Given the description of an element on the screen output the (x, y) to click on. 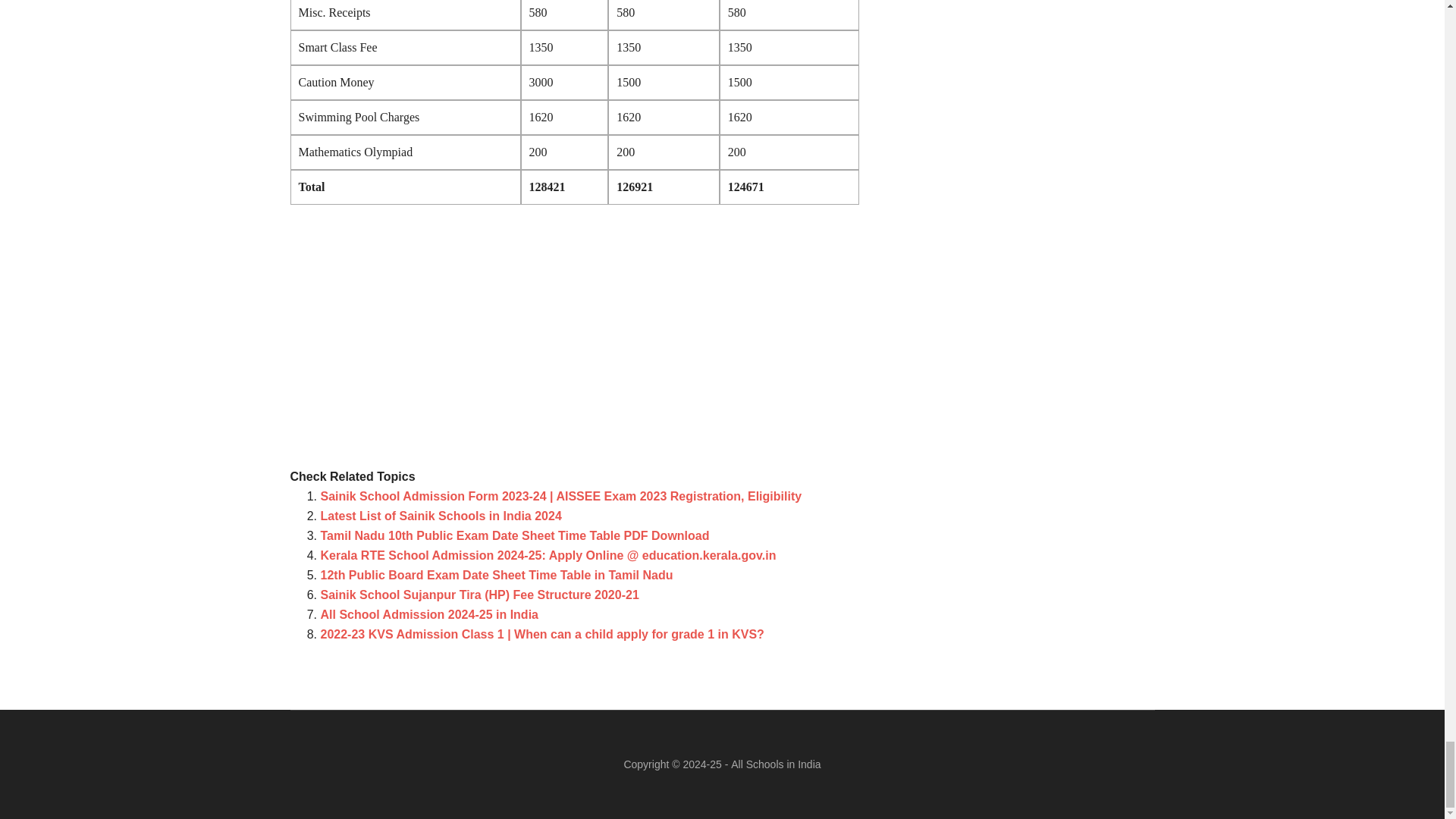
All Schools in India (775, 764)
Latest List of Sainik Schools in India 2024 (440, 515)
12th Public Board Exam Date Sheet Time Table in Tamil Nadu (496, 574)
12th Public Board Exam Date Sheet Time Table in Tamil Nadu (496, 574)
All School Admission 2024-25 in India (428, 614)
Latest List of Sainik Schools in India 2024 (440, 515)
All School Admission 2024-25 in India (428, 614)
